Given the description of an element on the screen output the (x, y) to click on. 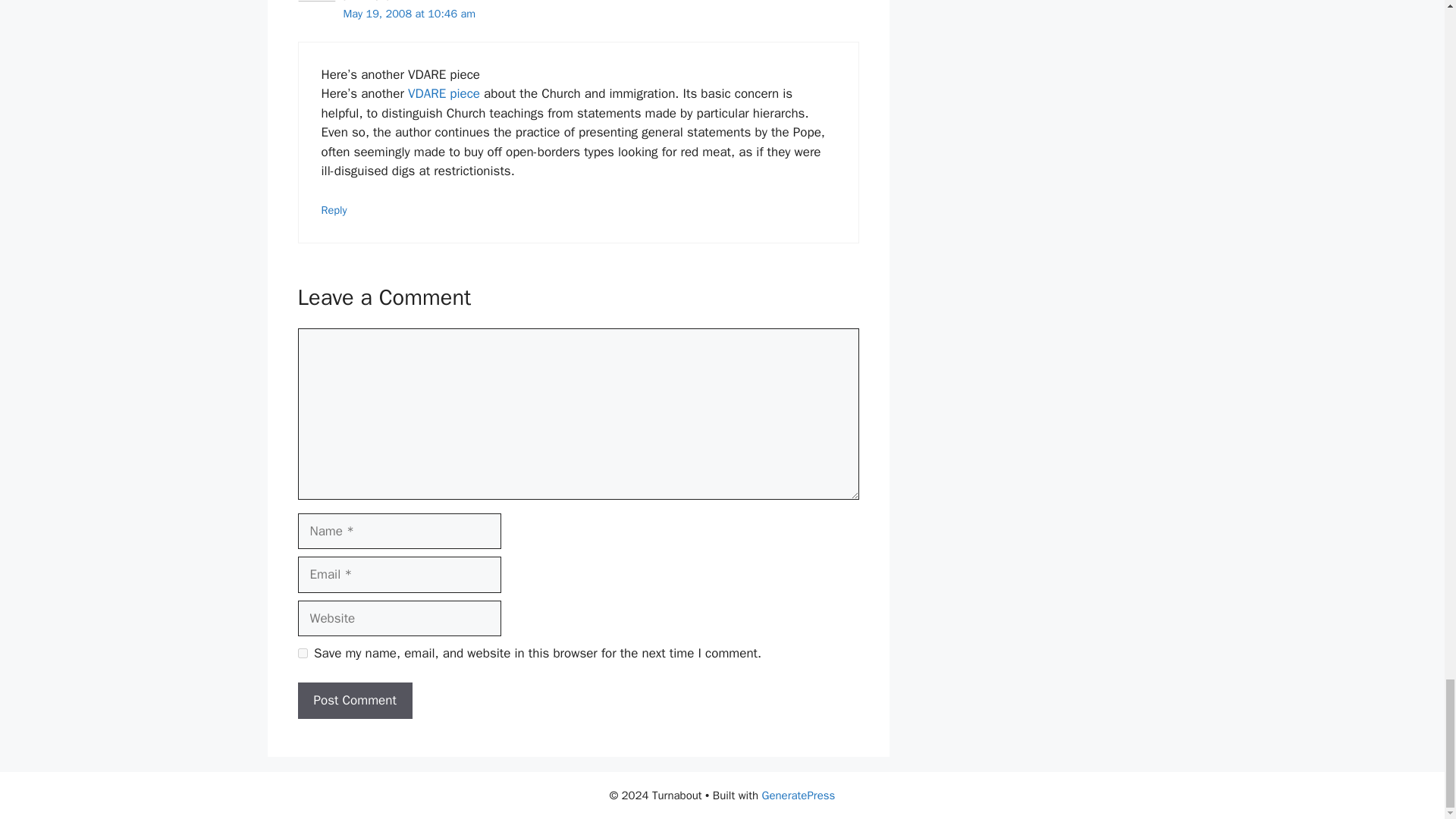
Reply (334, 210)
Post Comment (354, 700)
VDARE piece (443, 93)
yes (302, 653)
Post Comment (354, 700)
May 19, 2008 at 10:46 am (409, 13)
